Given the description of an element on the screen output the (x, y) to click on. 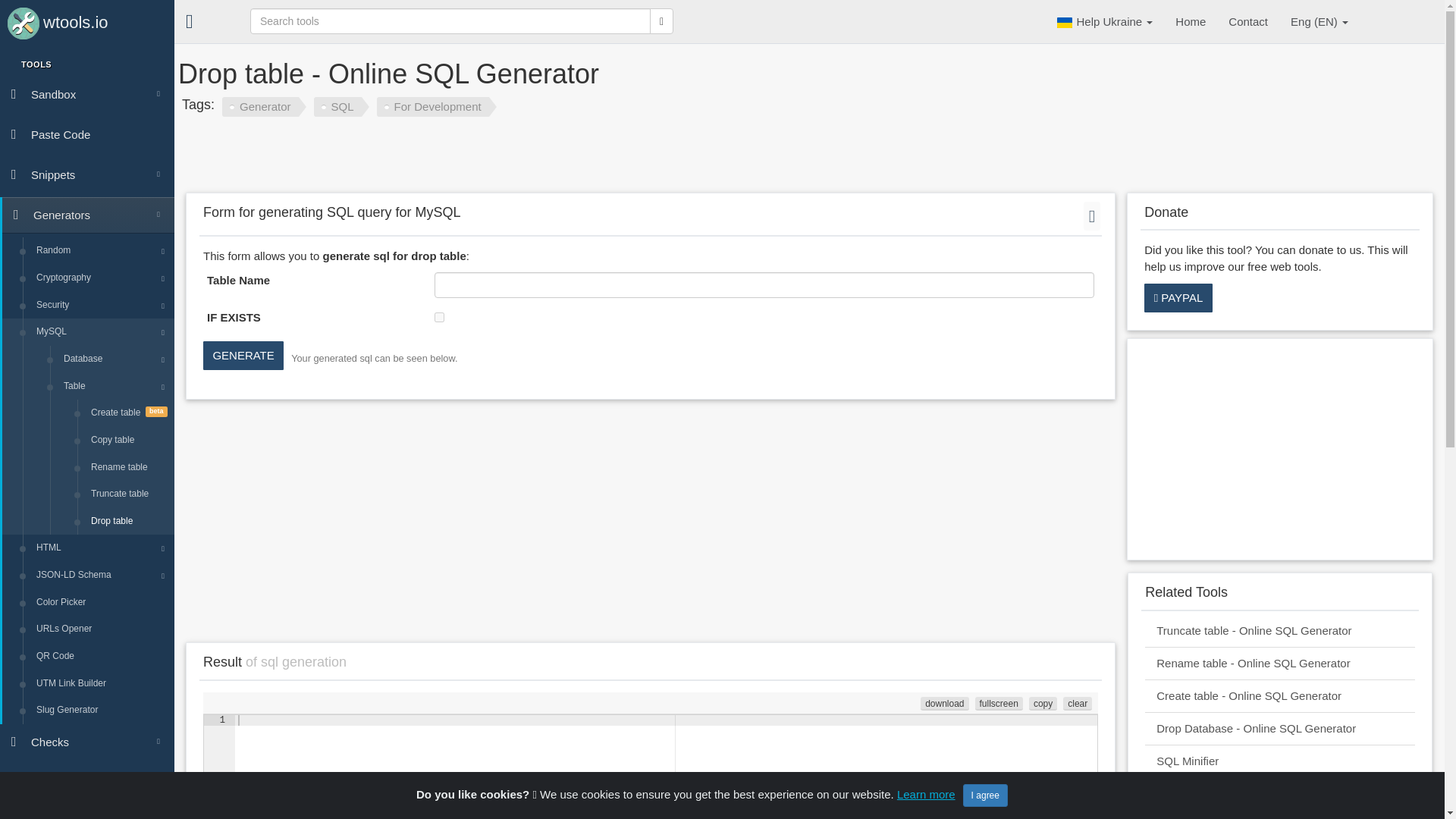
Advertisement (1279, 449)
Snippets (87, 174)
Sandbox (87, 94)
Security (101, 305)
Advertisement (641, 158)
Random (101, 250)
Cryptography (101, 277)
Paste Code (87, 134)
Generators (88, 214)
wtools.io (87, 20)
